Given the description of an element on the screen output the (x, y) to click on. 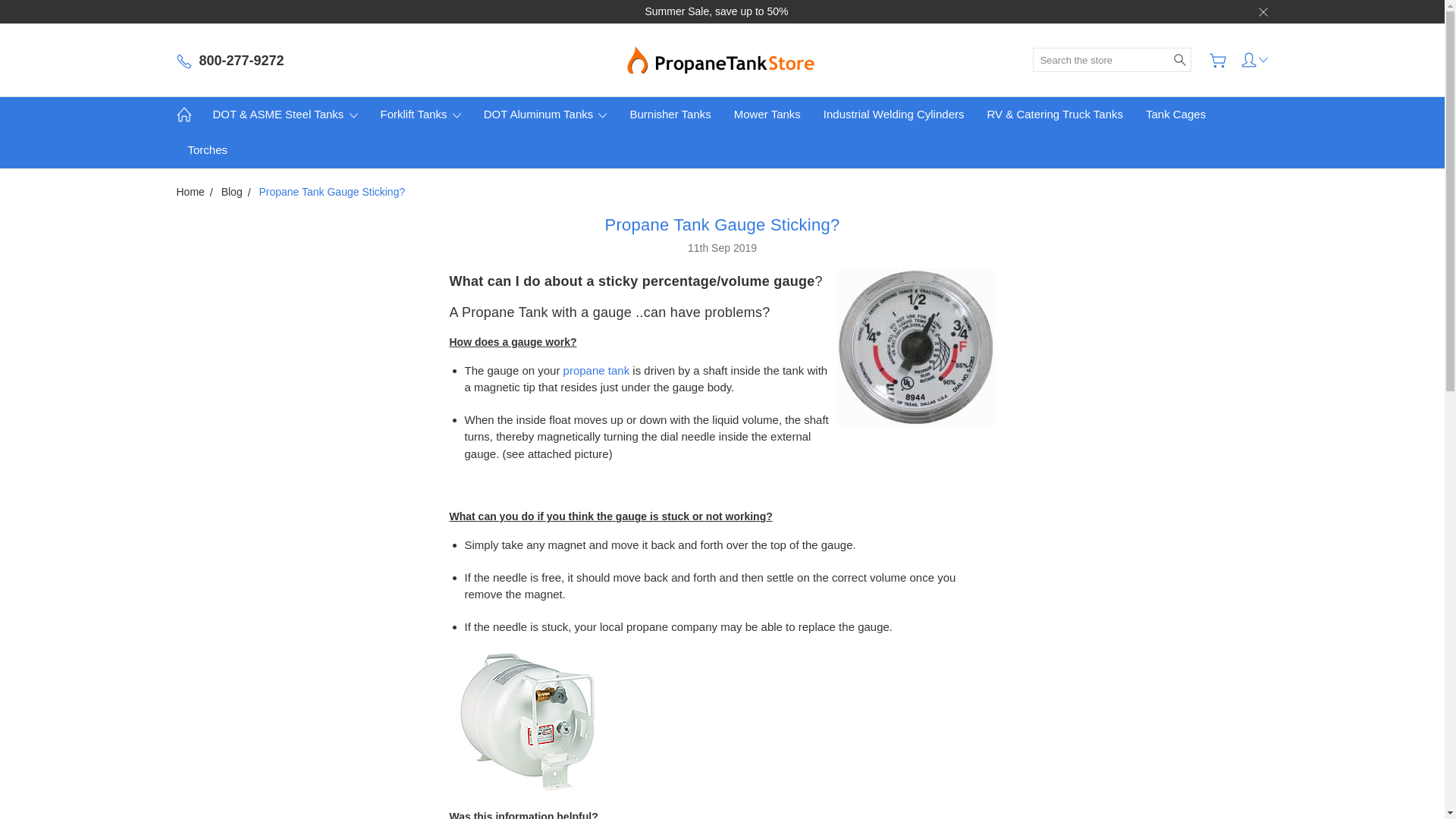
Search (1180, 59)
Search (1180, 59)
Gauge (915, 347)
Propane Tank Store (721, 59)
DOT tank w gauge (521, 723)
